Given the description of an element on the screen output the (x, y) to click on. 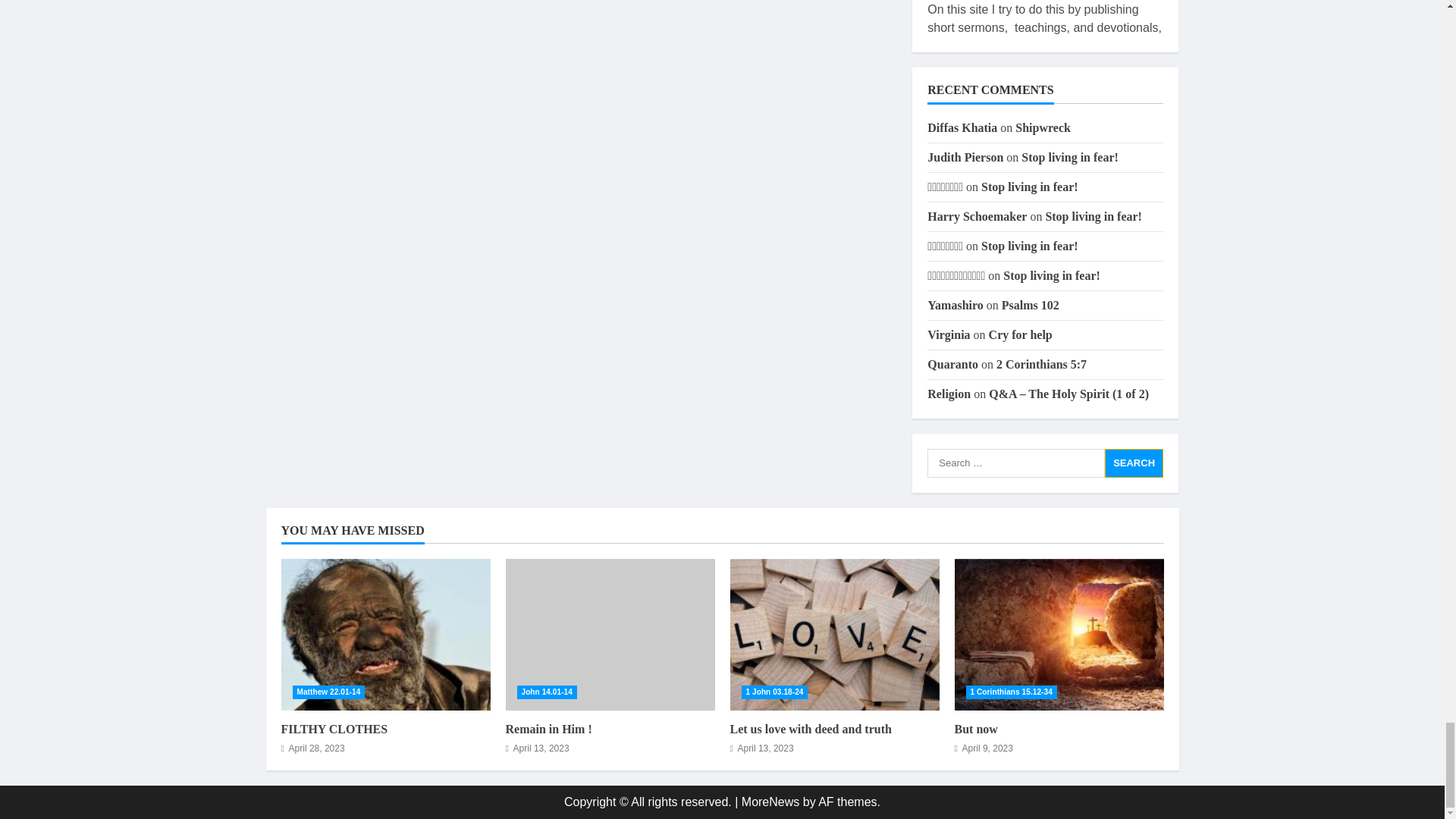
Search (1134, 462)
Search (1134, 462)
